Given the description of an element on the screen output the (x, y) to click on. 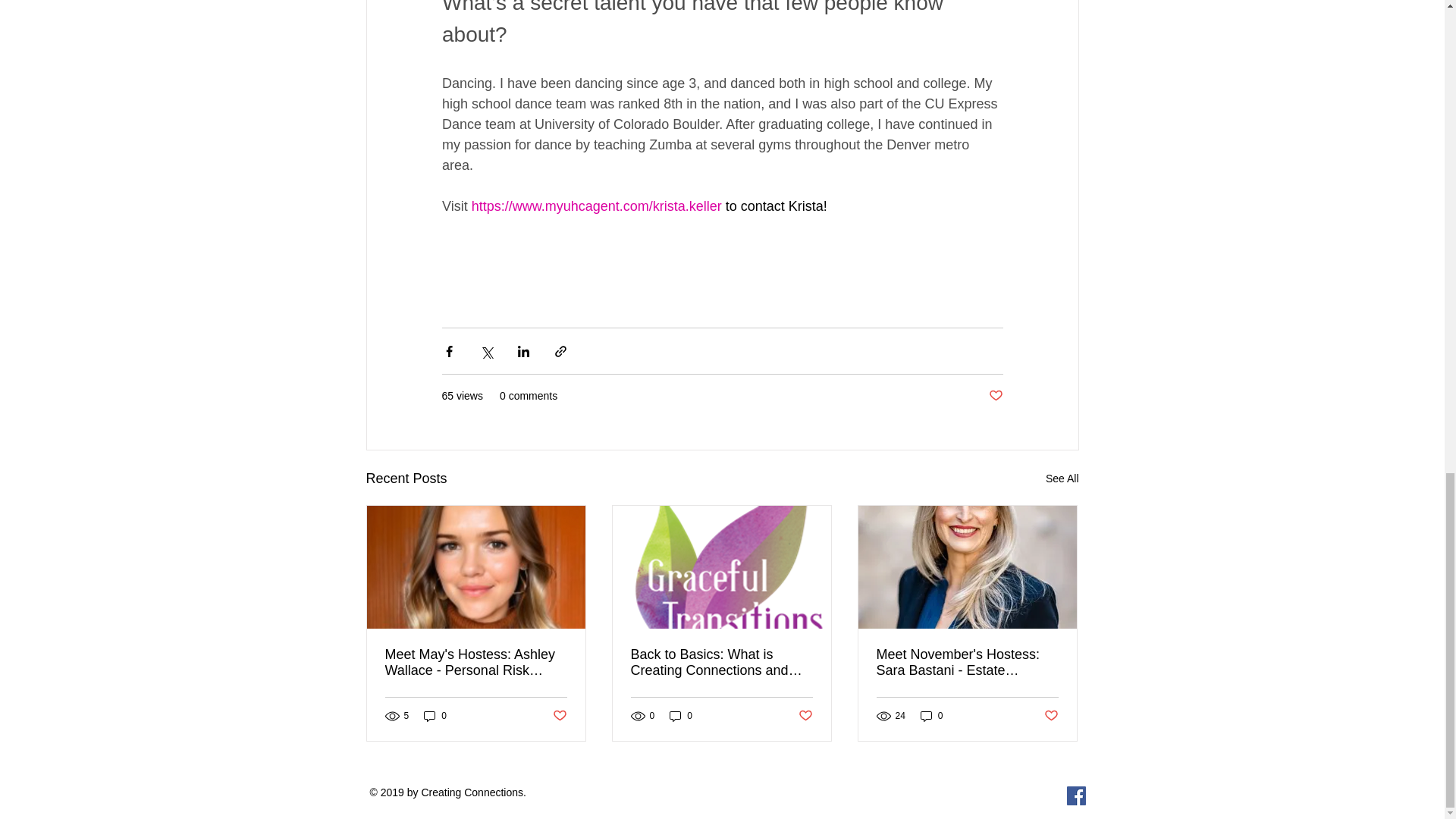
See All (1061, 478)
Post not marked as liked (995, 396)
Post not marked as liked (1050, 715)
0 (681, 715)
Post not marked as liked (558, 715)
0 (931, 715)
Post not marked as liked (804, 715)
